Given the description of an element on the screen output the (x, y) to click on. 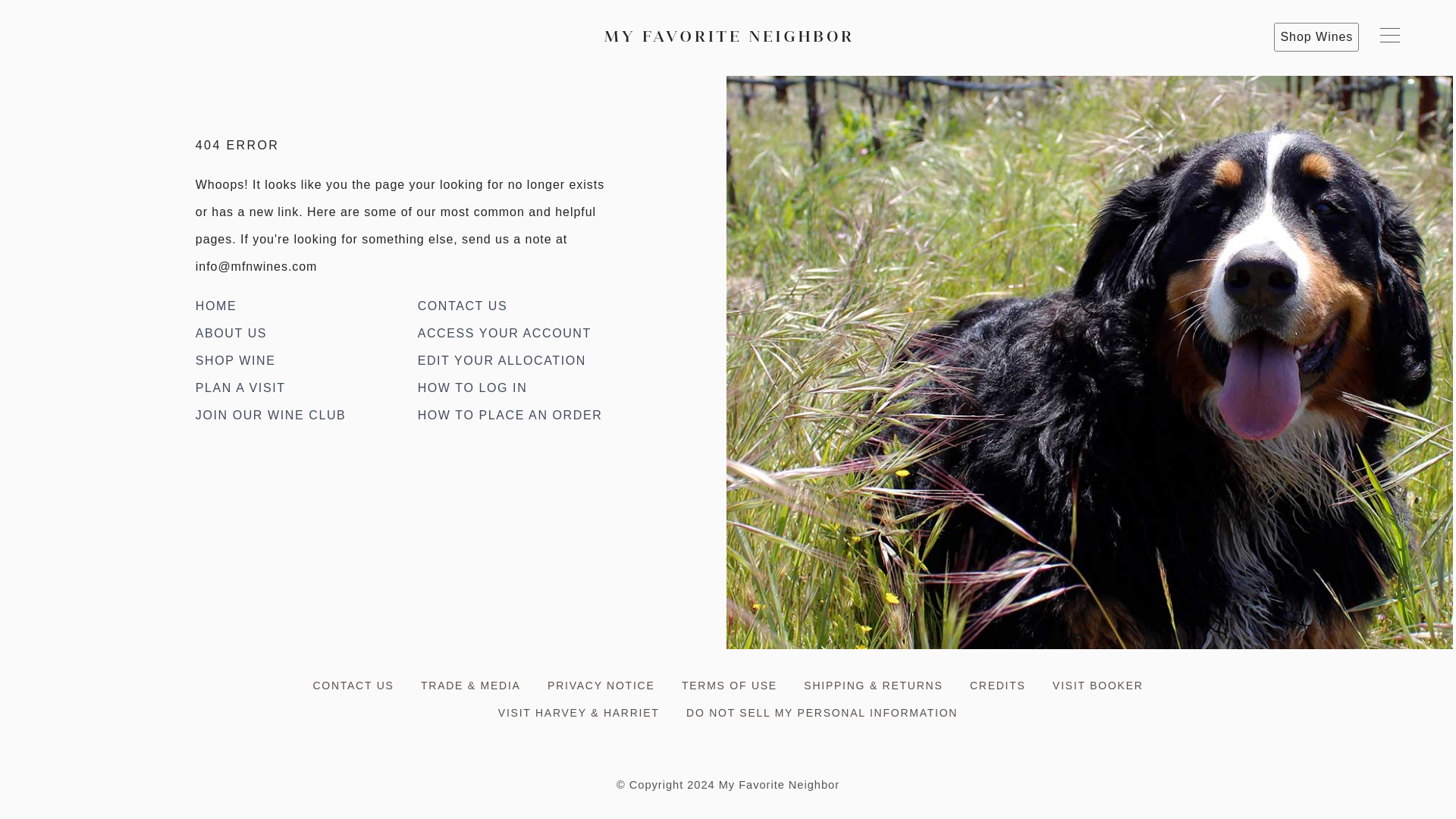
ABOUT US (230, 332)
ACCESS YOUR ACCOUNT (504, 332)
MY FAVORITE NEIGHBOR (727, 36)
JOIN OUR WINE CLUB (270, 414)
EDIT YOUR ALLOCATION (501, 359)
HOME (215, 305)
PLAN A VISIT (240, 387)
Shop Wines (1315, 36)
SHOP WINE (235, 359)
CONTACT US (462, 305)
